Given the description of an element on the screen output the (x, y) to click on. 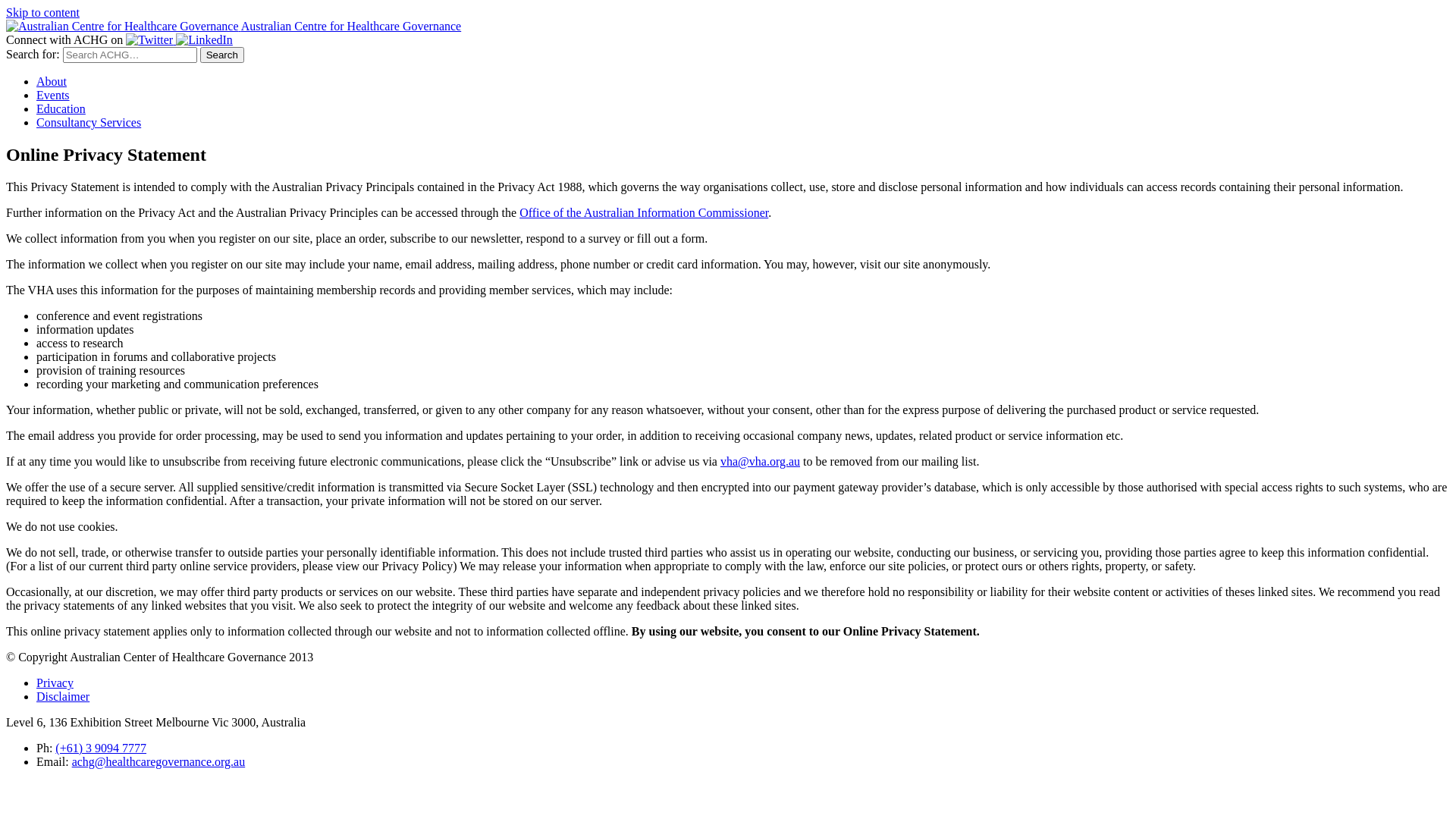
Consultancy Services Element type: text (88, 122)
Events Element type: text (52, 94)
(+61) 3 9094 7777 Element type: text (100, 747)
vha@vha.org.au Element type: text (760, 461)
About Element type: text (51, 81)
Privacy Element type: text (54, 682)
Office of the Australian Information Commissioner Element type: text (643, 212)
Skip to content Element type: text (42, 12)
achg@healthcaregovernance.org.au Element type: text (158, 761)
Australian Centre for Healthcare Governance Element type: text (233, 25)
Disclaimer Element type: text (62, 696)
Education Element type: text (60, 108)
Search Element type: text (222, 54)
